Given the description of an element on the screen output the (x, y) to click on. 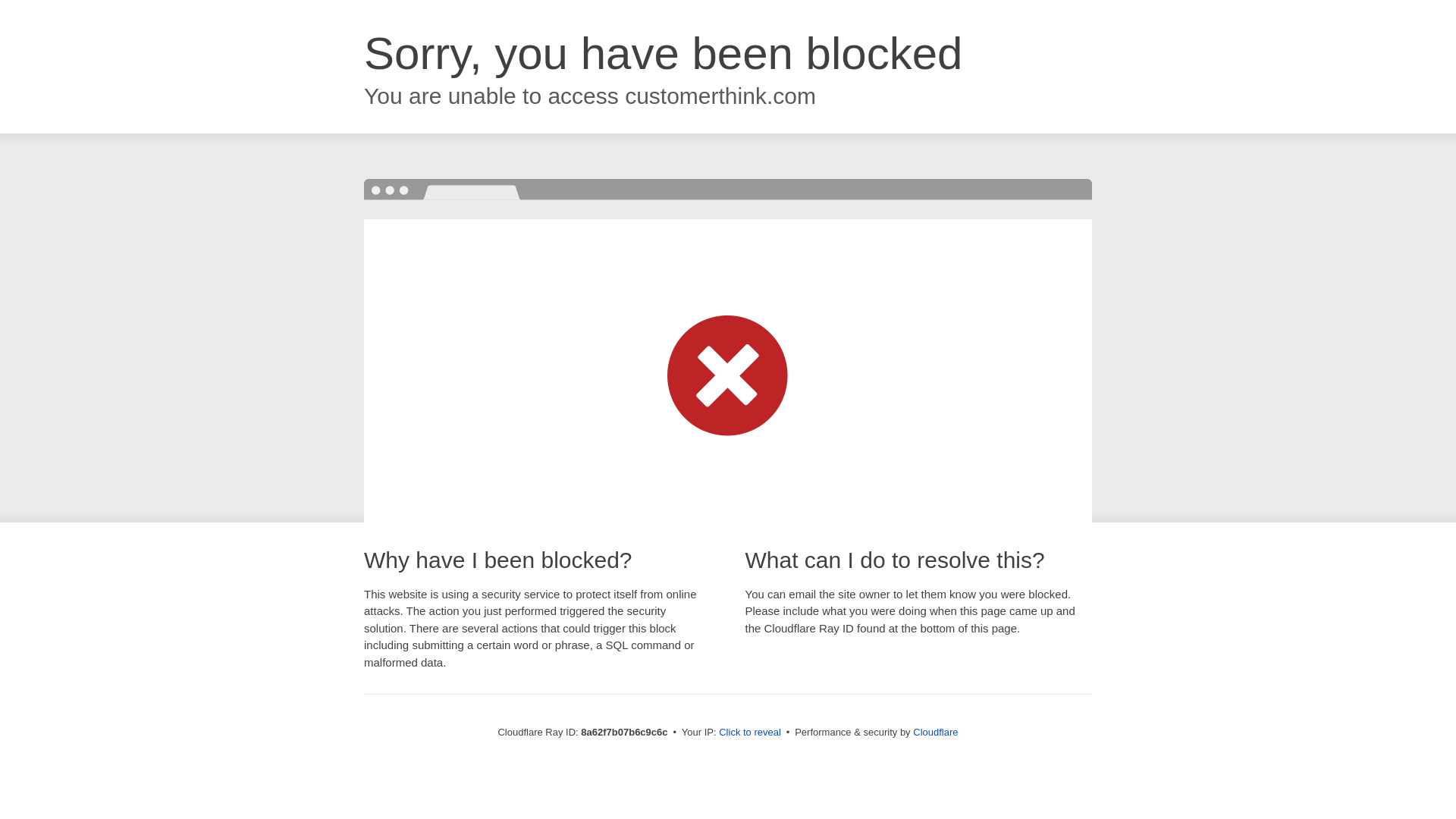
Cloudflare (935, 731)
Click to reveal (749, 732)
